Given the description of an element on the screen output the (x, y) to click on. 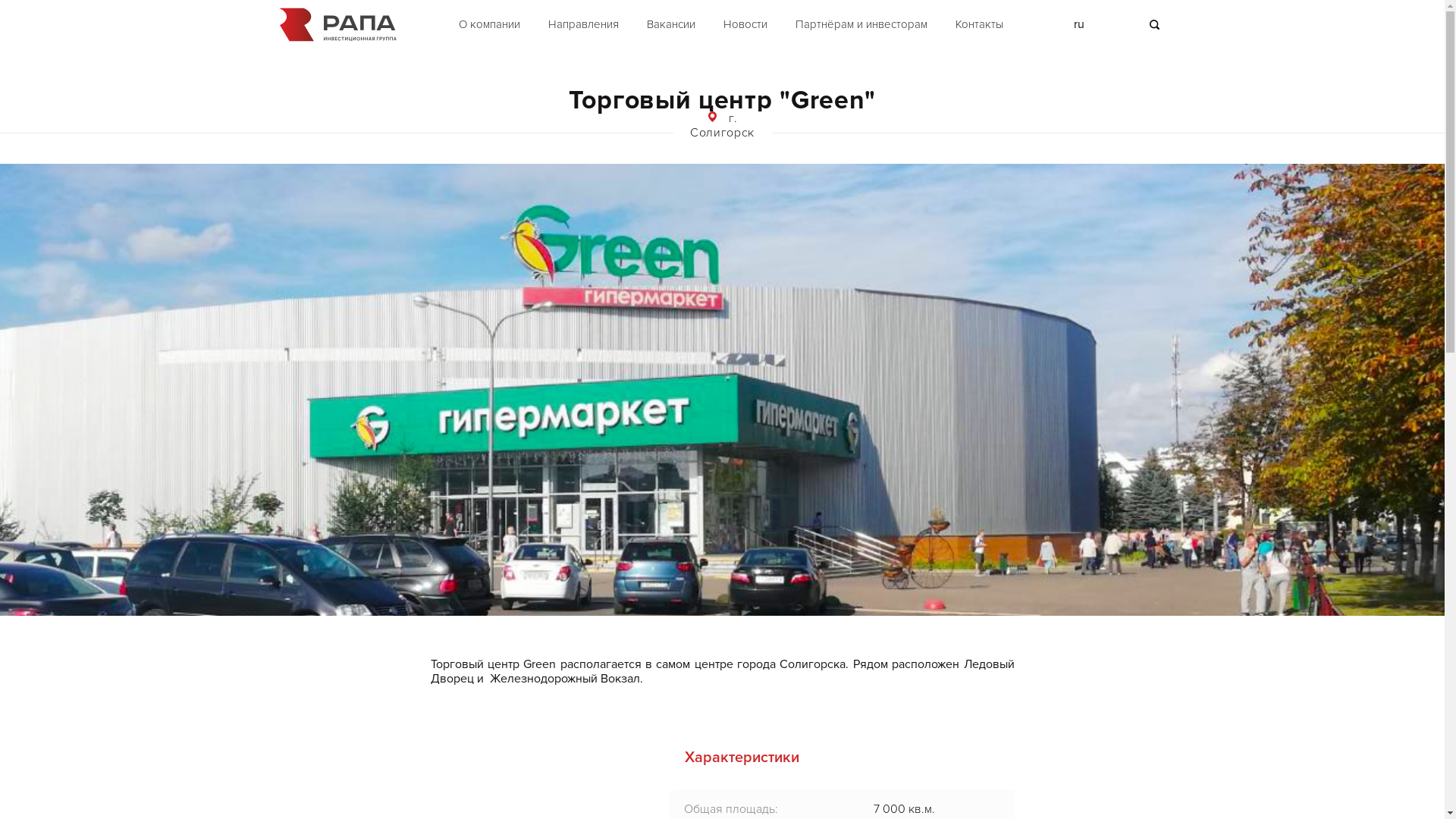
ru Element type: text (1078, 23)
